Given the description of an element on the screen output the (x, y) to click on. 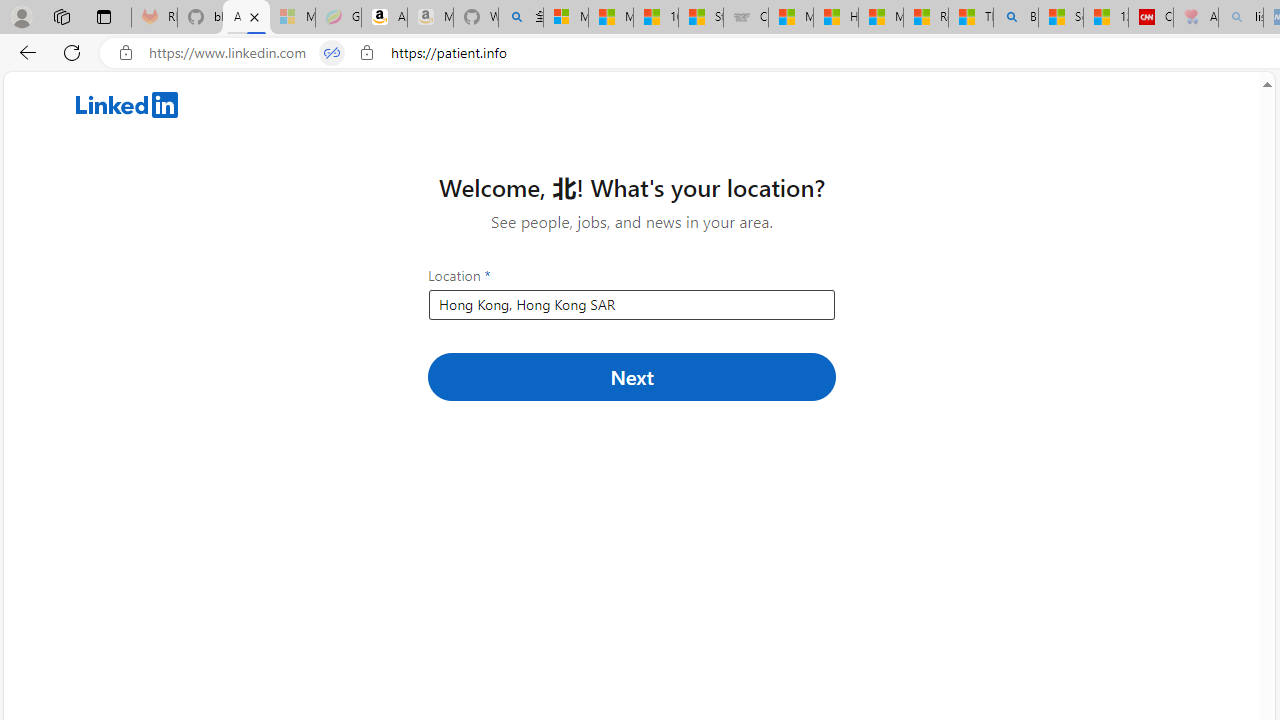
View site information (366, 53)
